Given the description of an element on the screen output the (x, y) to click on. 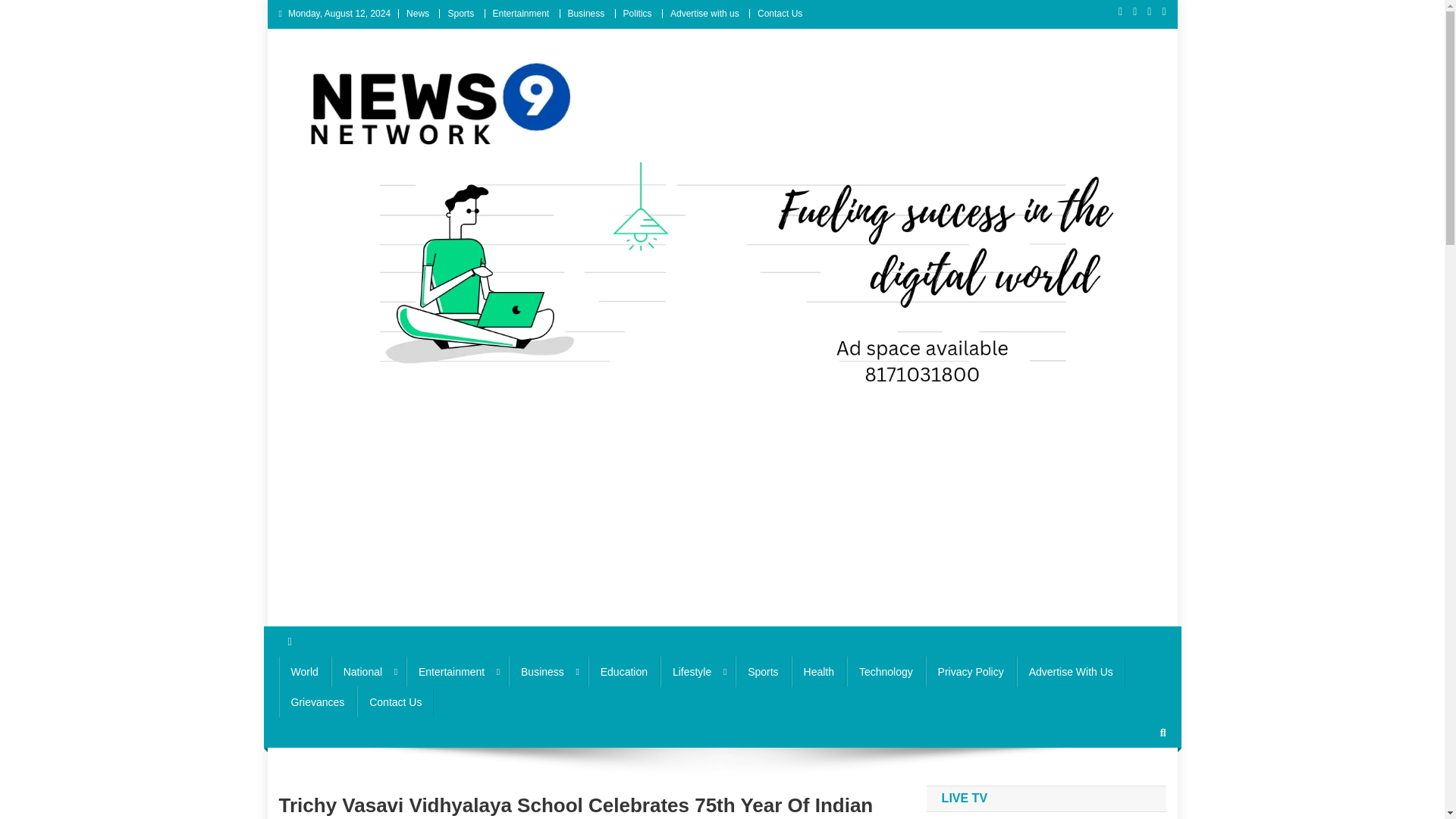
Contact Us (779, 13)
Technology (885, 671)
Entertainment (457, 671)
Privacy Policy (971, 671)
Sports (460, 13)
Politics (637, 13)
Lifestyle (698, 671)
National (368, 671)
Education (623, 671)
Health (818, 671)
